Given the description of an element on the screen output the (x, y) to click on. 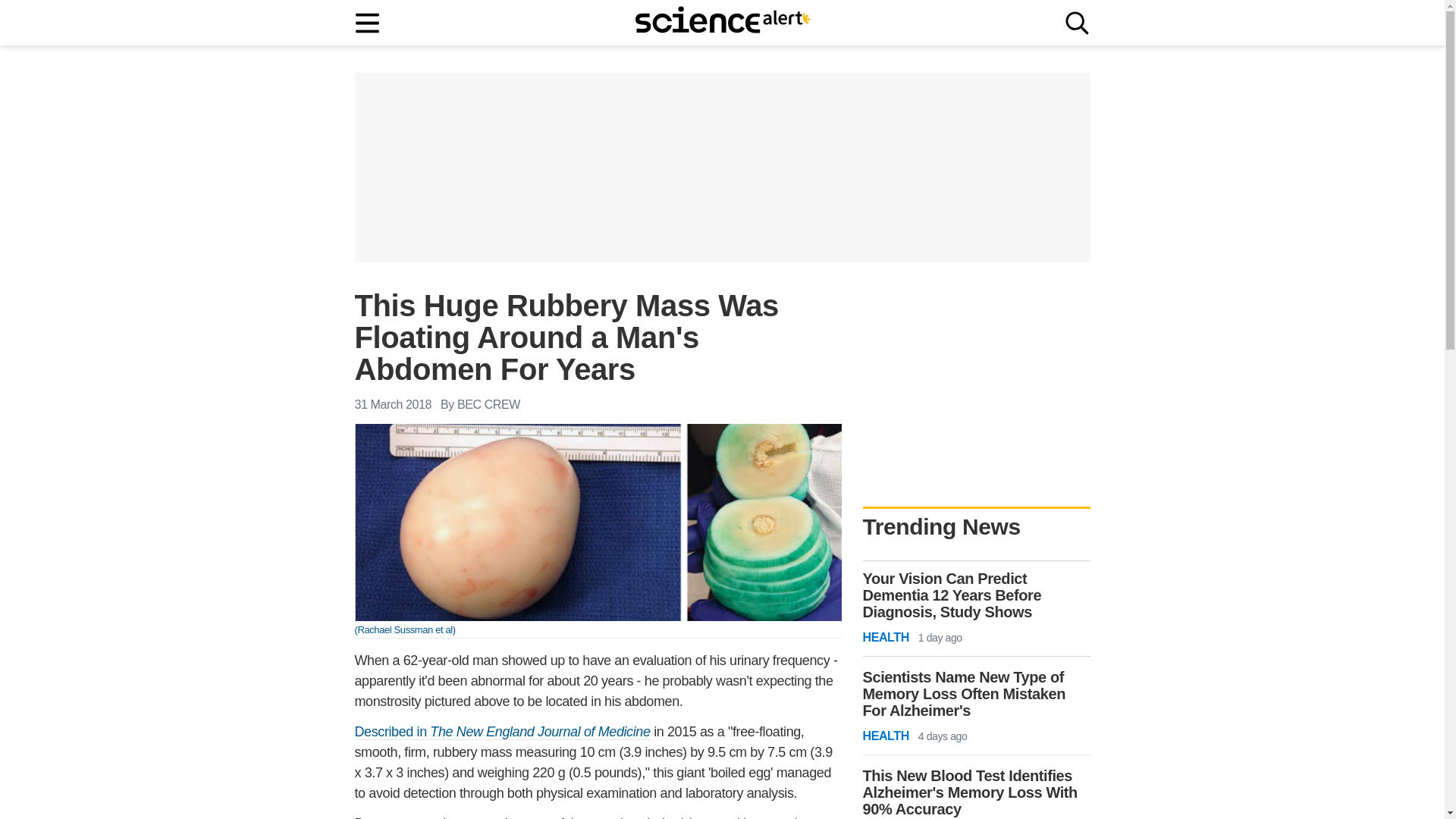
HEALTH (885, 736)
HEALTH (885, 637)
Described in The New England Journal of Medicine (502, 731)
